Given the description of an element on the screen output the (x, y) to click on. 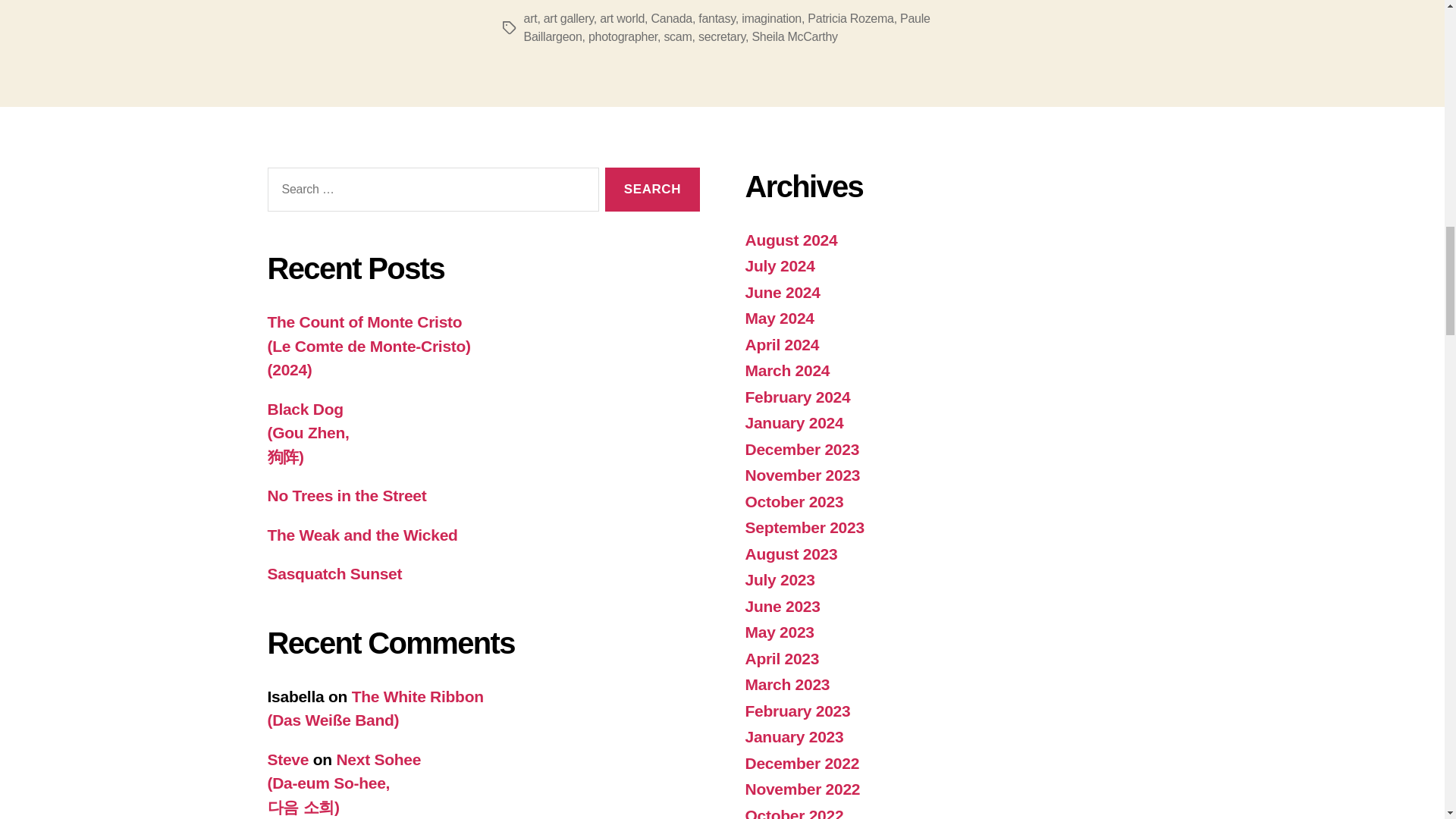
art world (622, 18)
art gallery (568, 18)
Search (651, 189)
art (529, 18)
Search (651, 189)
